Given the description of an element on the screen output the (x, y) to click on. 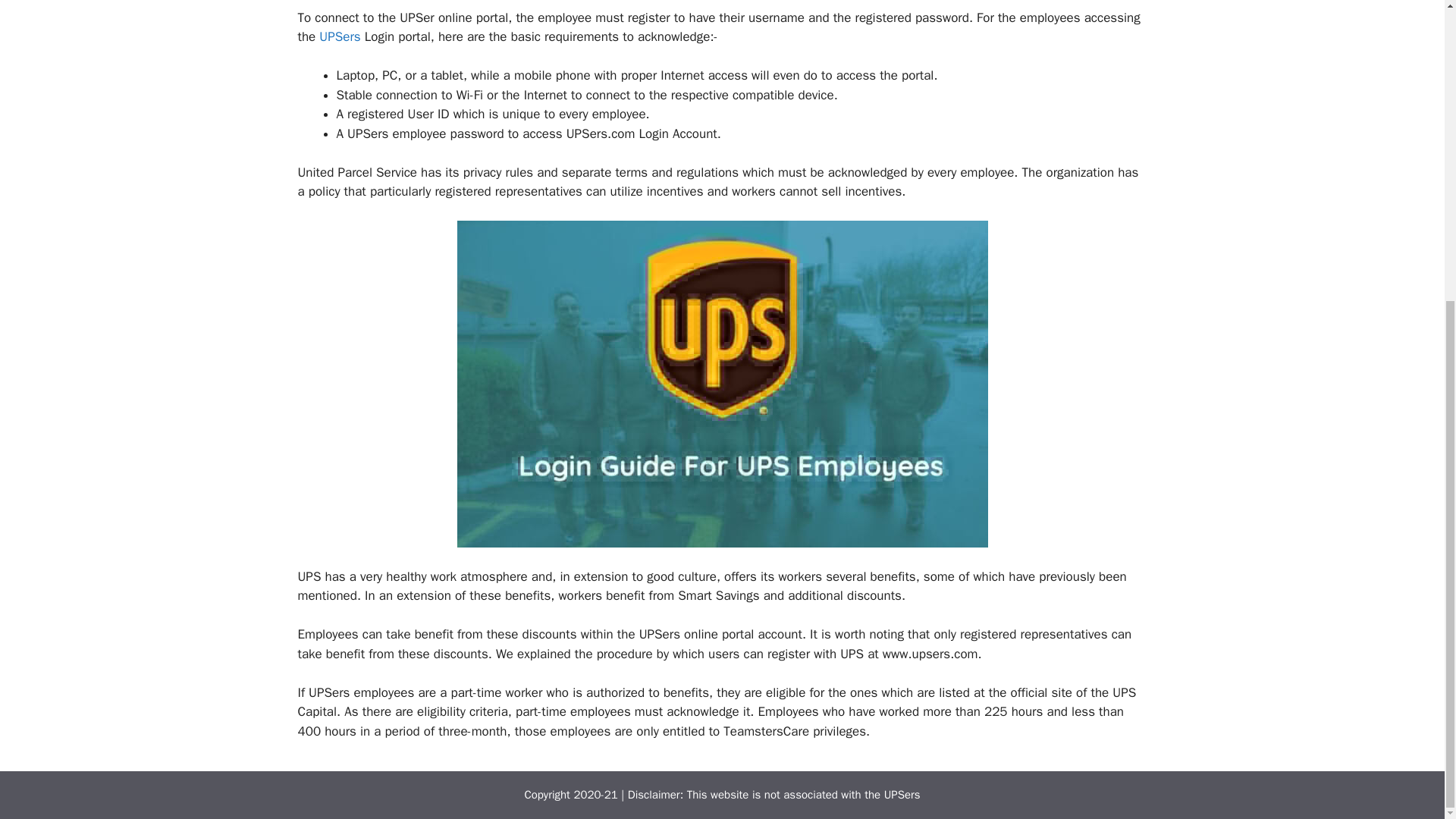
UPSers (338, 36)
UPSers (901, 794)
